Given the description of an element on the screen output the (x, y) to click on. 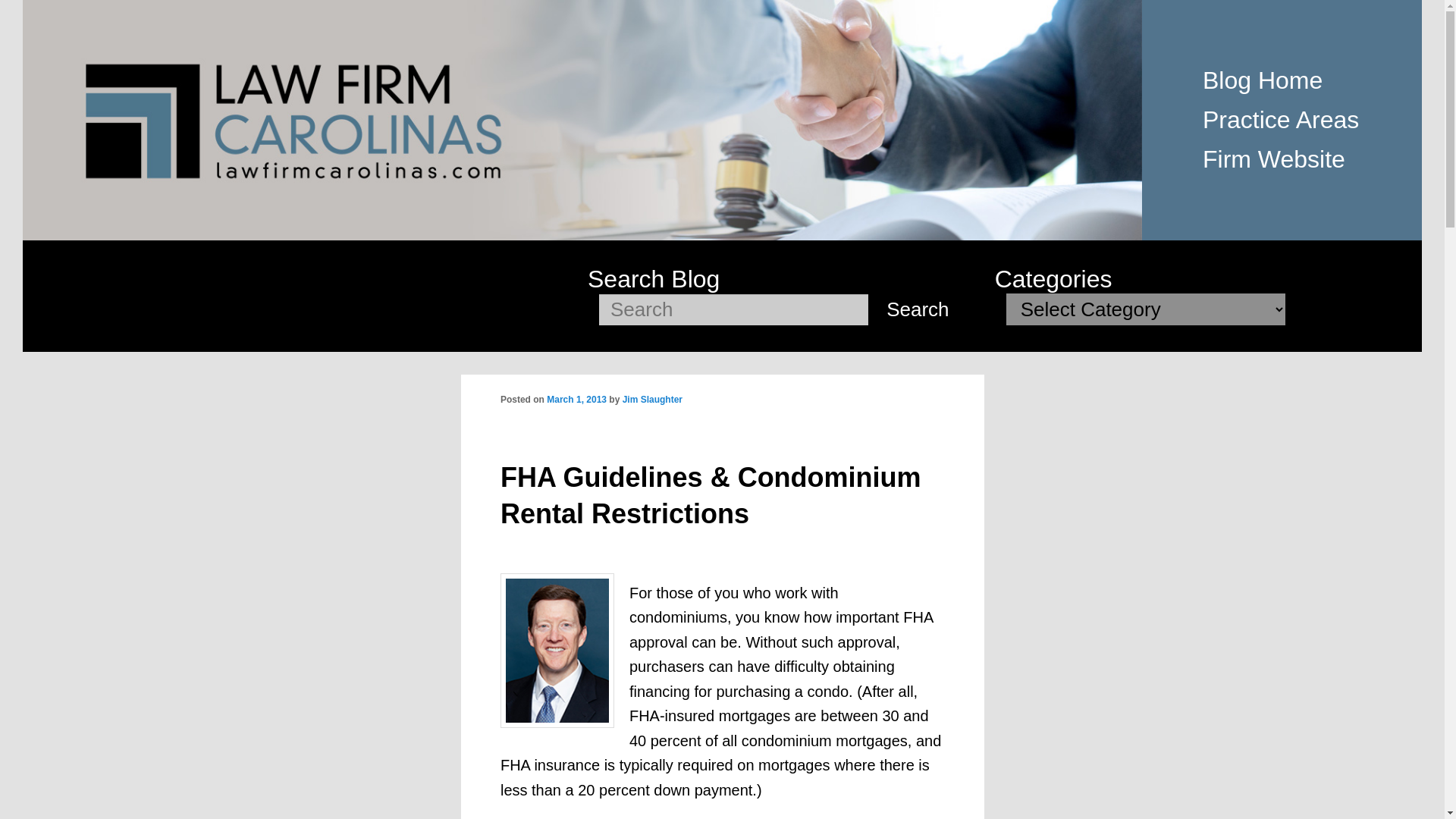
Search (917, 309)
March 1, 2013 (577, 398)
Practice Areas (1280, 119)
Jim Slaughter (652, 398)
Blog Home (1262, 80)
Firm Website (1273, 158)
7:37 pm (577, 398)
View all posts by Jim Slaughter (652, 398)
Search (917, 309)
